Given the description of an element on the screen output the (x, y) to click on. 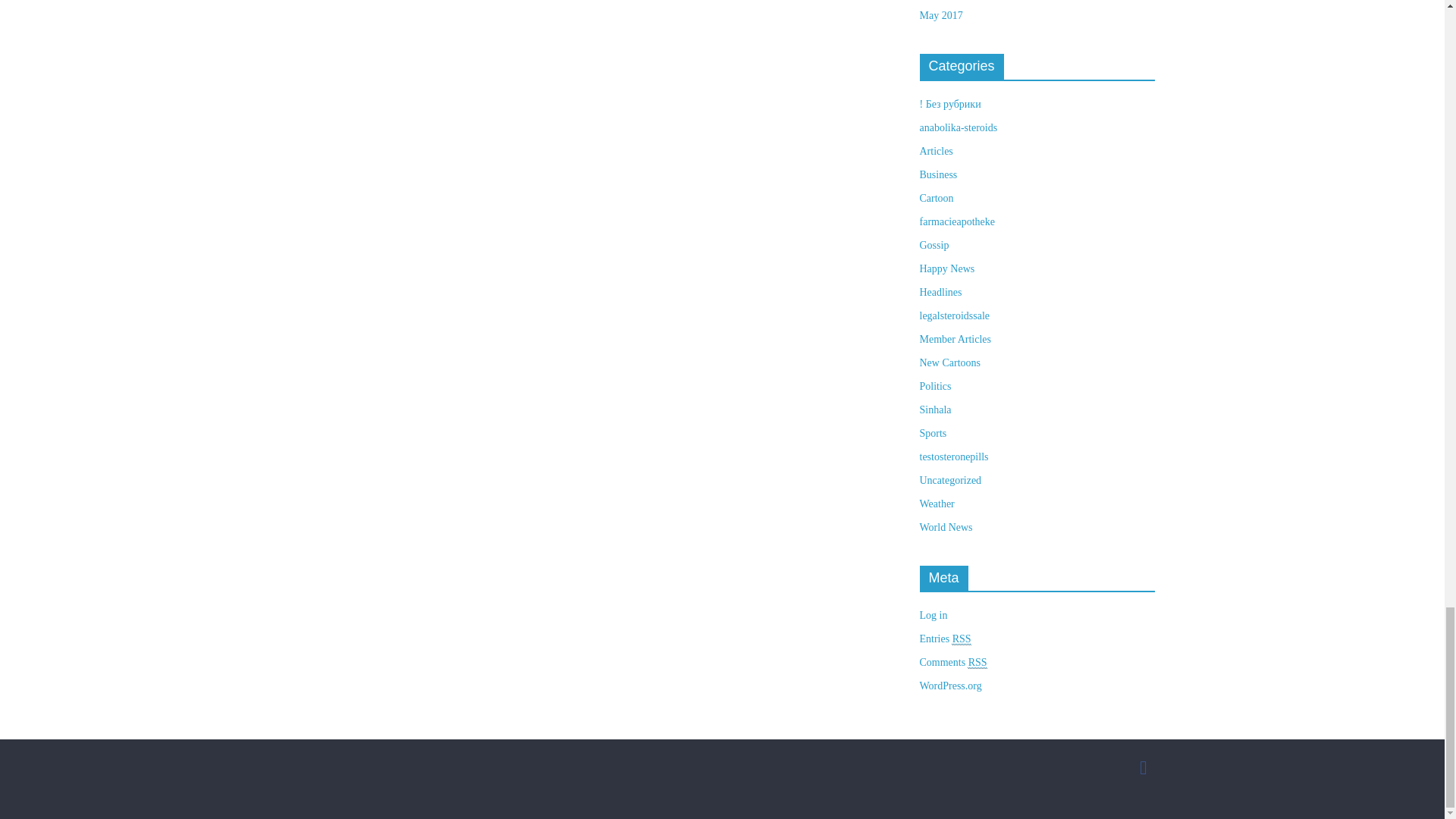
Really Simple Syndication (977, 662)
Really Simple Syndication (961, 639)
